Given the description of an element on the screen output the (x, y) to click on. 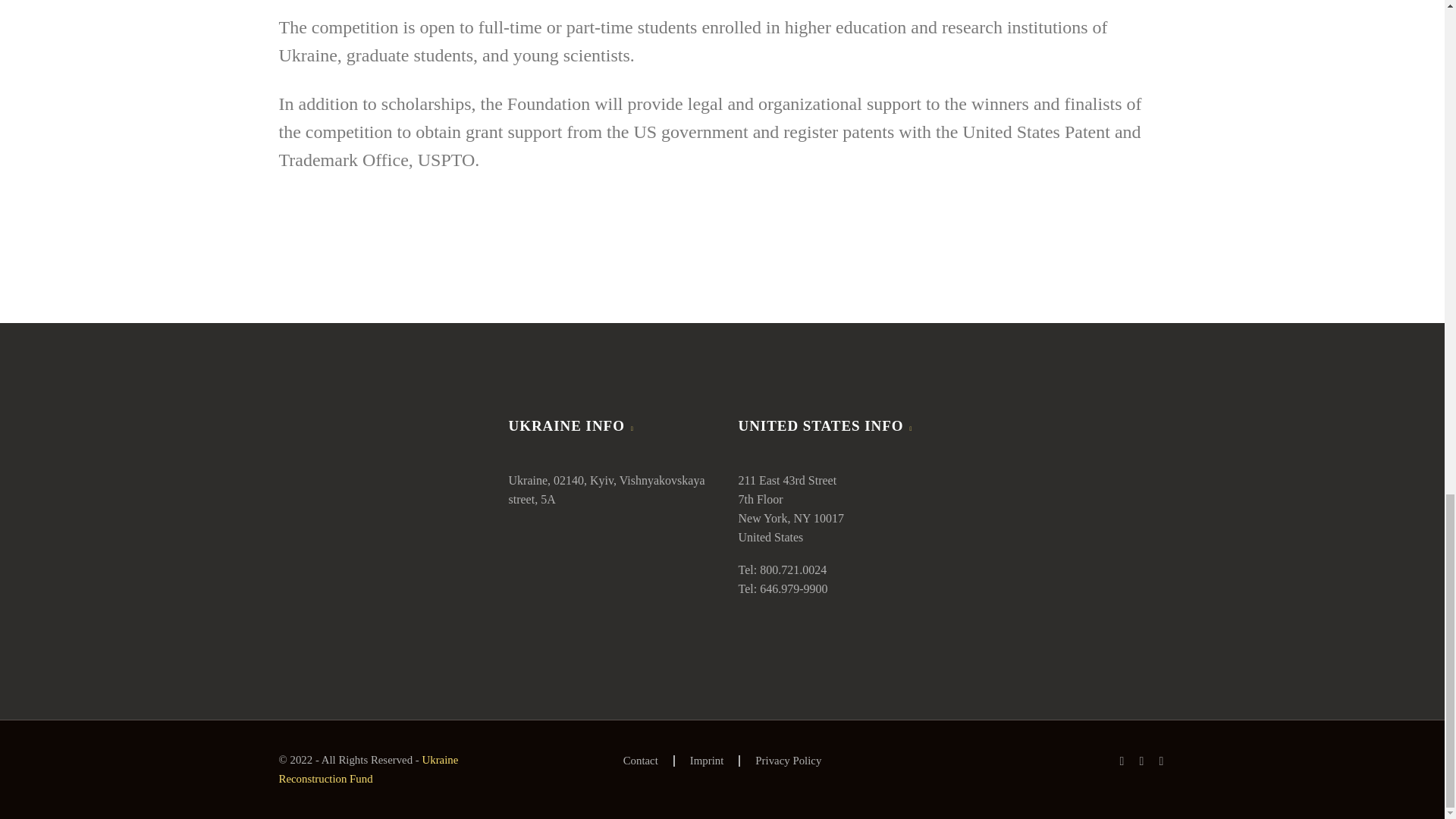
Contact (640, 760)
Imprint (706, 760)
LinkedIn (1141, 761)
Facebook (1122, 761)
Ukraine Reconstruction Fund (368, 768)
Instagram (1161, 761)
Privacy Policy (788, 760)
